Given the description of an element on the screen output the (x, y) to click on. 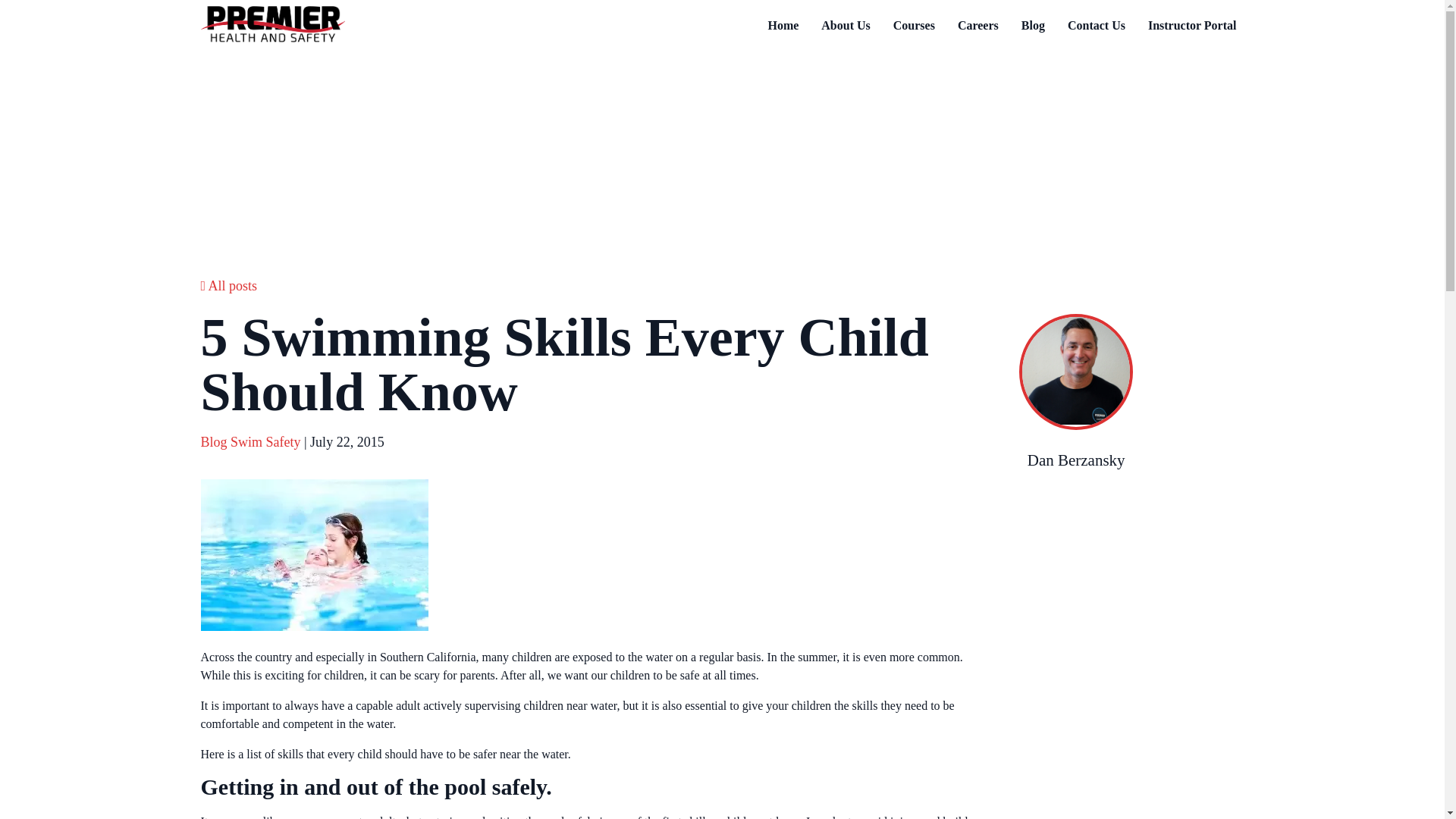
Instructor Portal (1192, 25)
Careers (978, 25)
Courses (913, 25)
All posts (228, 285)
Contact Us (1095, 25)
Blog (1032, 25)
Swim Safety (265, 441)
Home (783, 25)
Blog (213, 441)
About Us (845, 25)
